Given the description of an element on the screen output the (x, y) to click on. 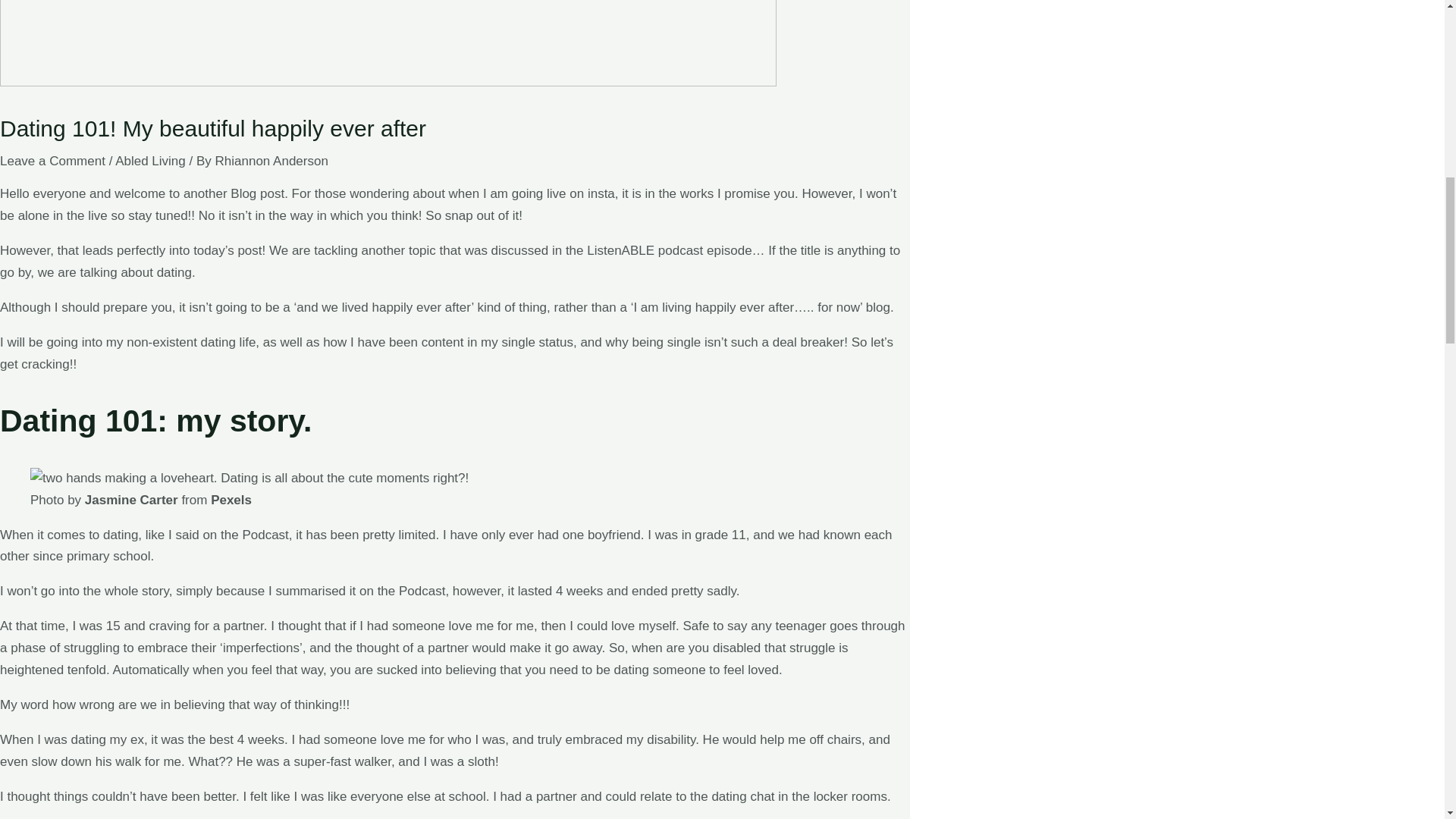
Jasmine Carter (130, 499)
Pexels (231, 499)
Abled Living (150, 160)
Rhiannon Anderson (272, 160)
Leave a Comment (52, 160)
View all posts by Rhiannon Anderson (272, 160)
